Given the description of an element on the screen output the (x, y) to click on. 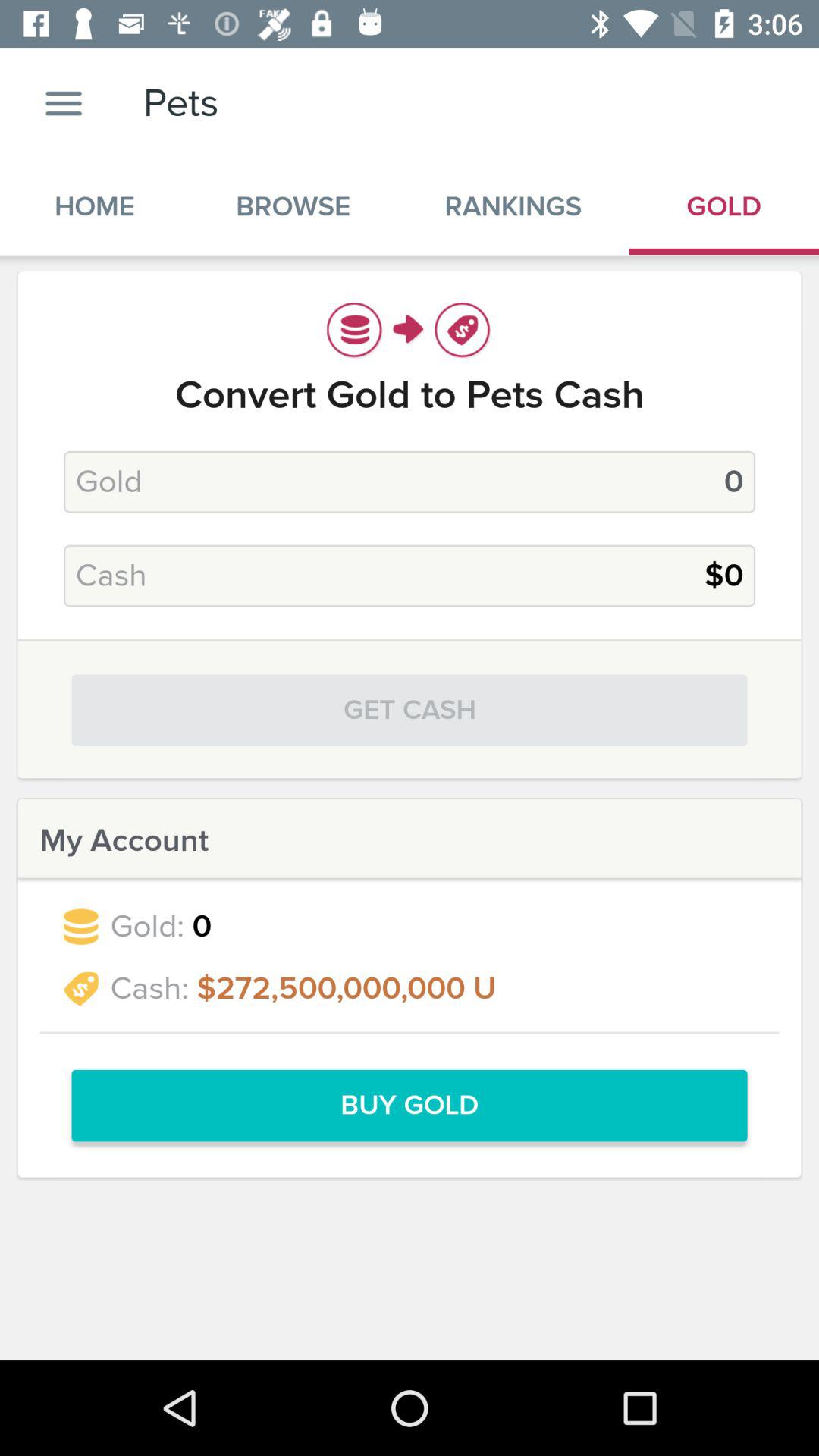
select the app to the left of the pets item (63, 103)
